Given the description of an element on the screen output the (x, y) to click on. 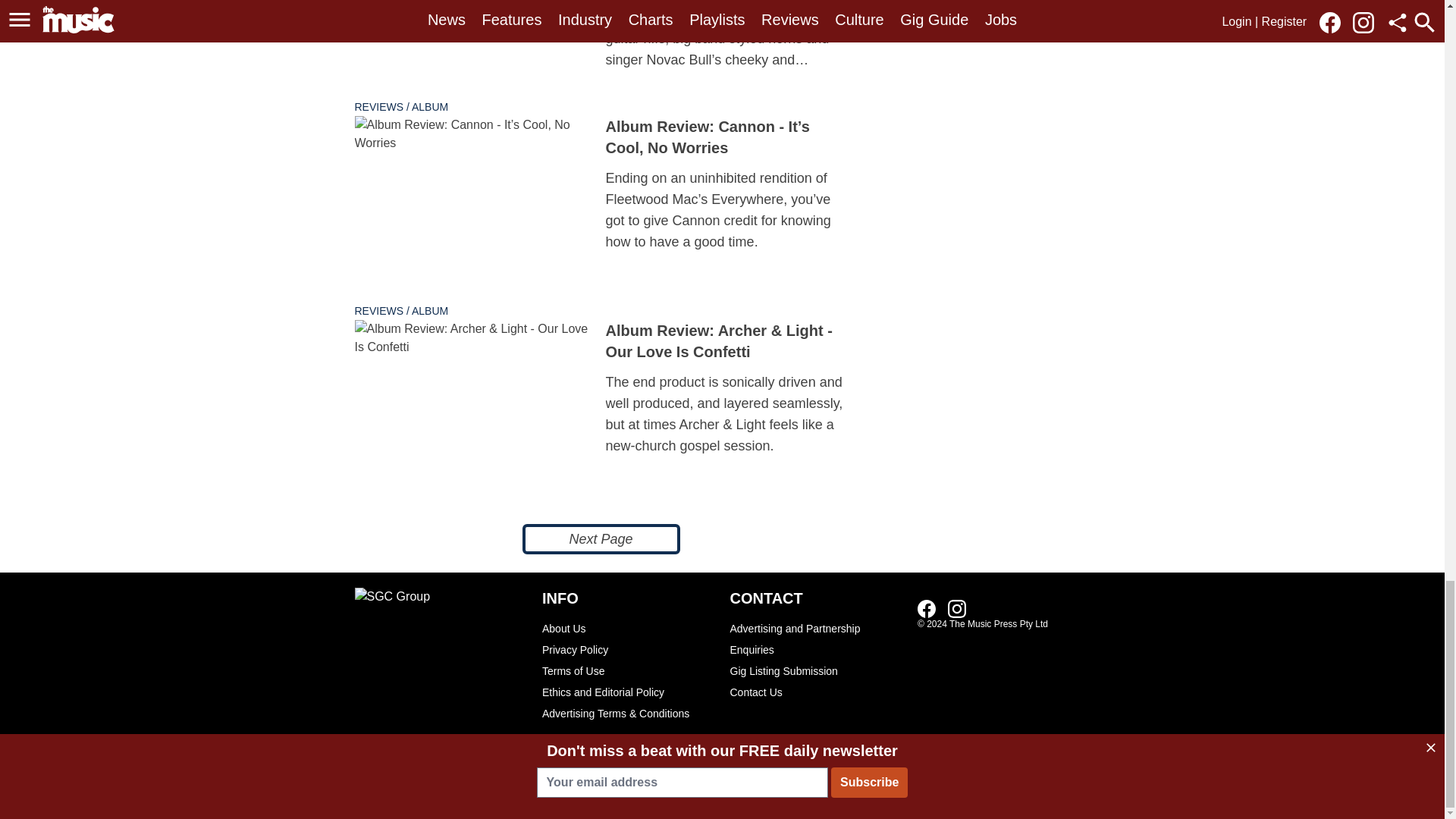
Link to our Instagram (956, 608)
Next Page (600, 539)
Advertising and Partnership Enquiries (815, 639)
Ethics and Editorial Policy (627, 691)
Link to our Facebook (926, 608)
Contact Us (815, 691)
About Us (627, 628)
Privacy Policy (627, 649)
Terms of Use (627, 670)
Gig Listing Submission (815, 670)
